Given the description of an element on the screen output the (x, y) to click on. 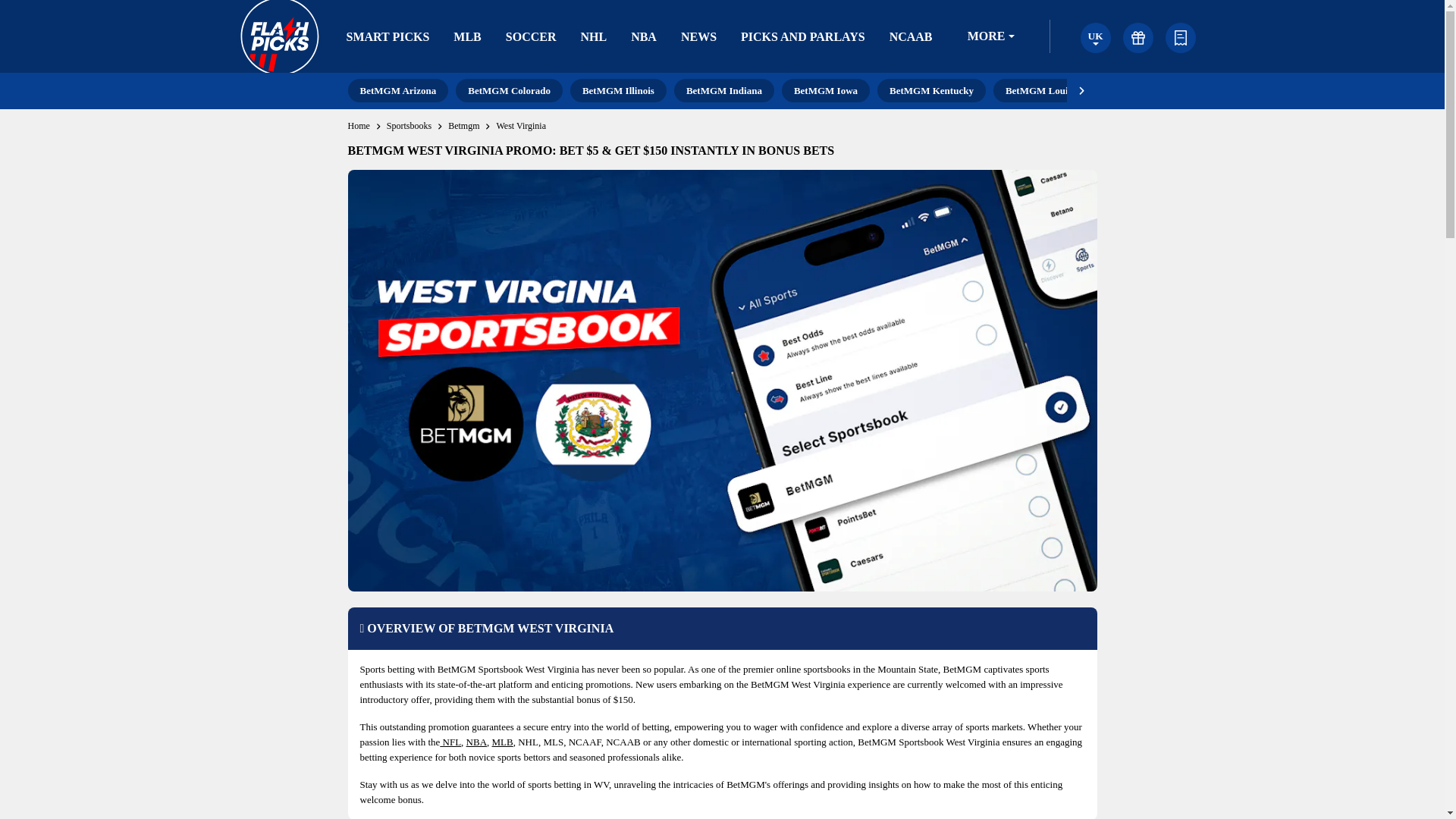
BetMGM Arizona (397, 90)
MORE (990, 36)
BetMGM Louisiana (1047, 90)
NBA (643, 36)
BetMGM Maryland (1163, 90)
PICKS AND PARLAYS (802, 36)
MLB (466, 36)
BetMGM Kentucky (931, 90)
BetMGM Illinois (618, 90)
NEWS (698, 36)
